Given the description of an element on the screen output the (x, y) to click on. 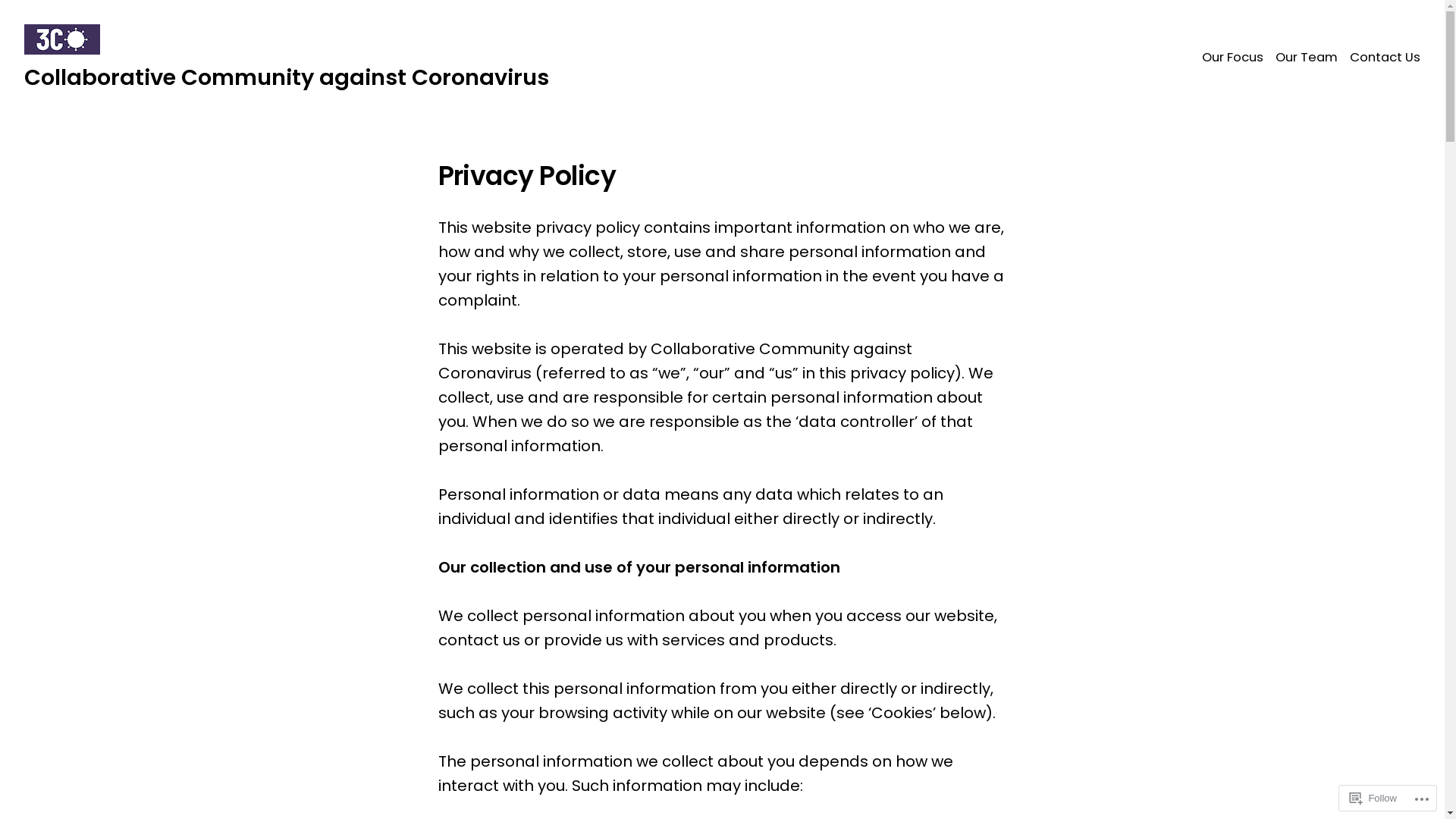
Collaborative Community against Coronavirus Element type: text (286, 77)
Follow Element type: text (1372, 797)
Contact Us Element type: text (1381, 58)
Our Team Element type: text (1306, 58)
Our Focus Element type: text (1235, 58)
